Given the description of an element on the screen output the (x, y) to click on. 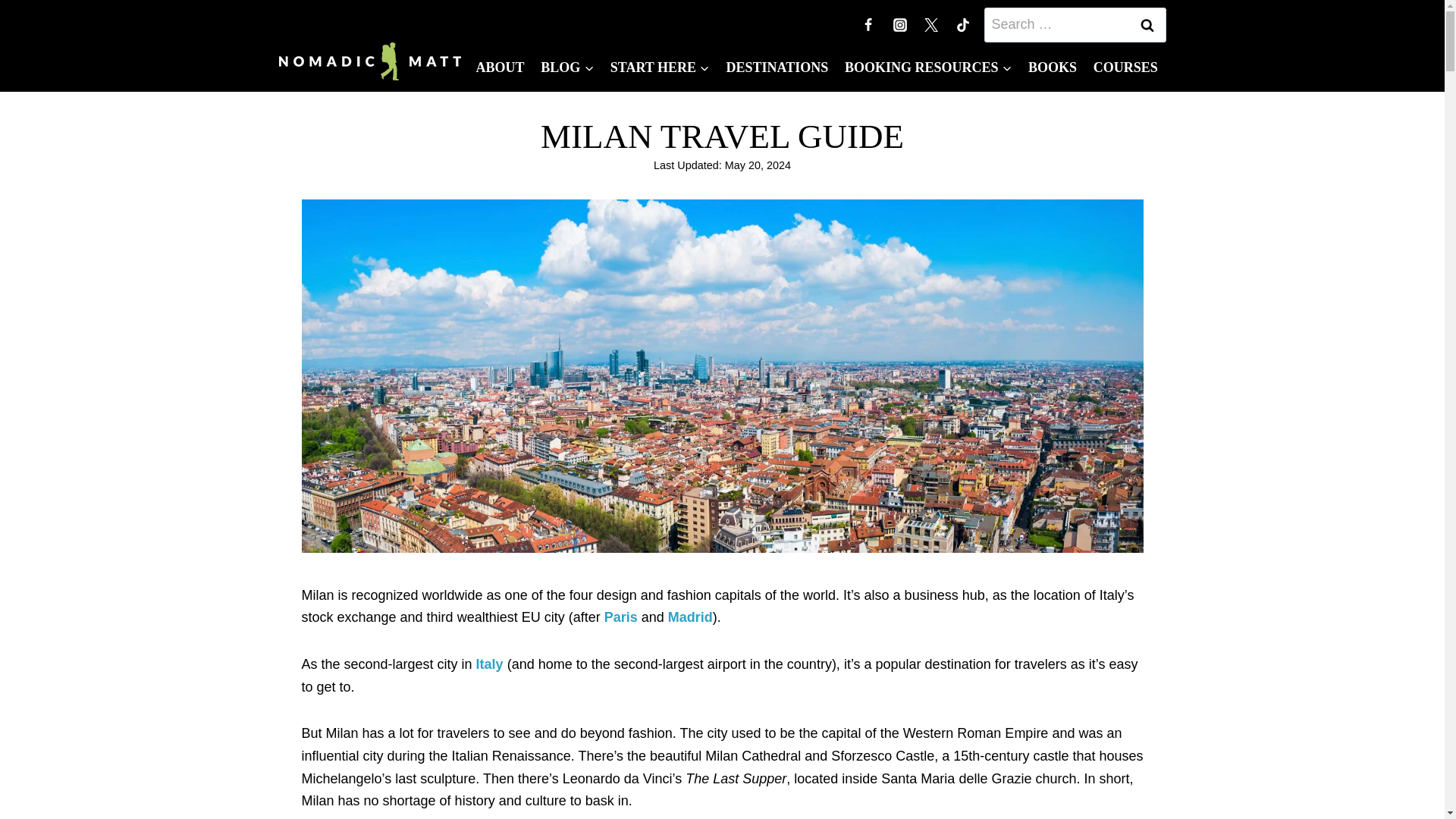
COURSES (1125, 67)
BLOG (567, 67)
Search (1147, 24)
BOOKS (1052, 67)
Search (1147, 24)
BOOKING RESOURCES (927, 67)
START HERE (659, 67)
ABOUT (499, 67)
Search (1147, 24)
DESTINATIONS (776, 67)
